Given the description of an element on the screen output the (x, y) to click on. 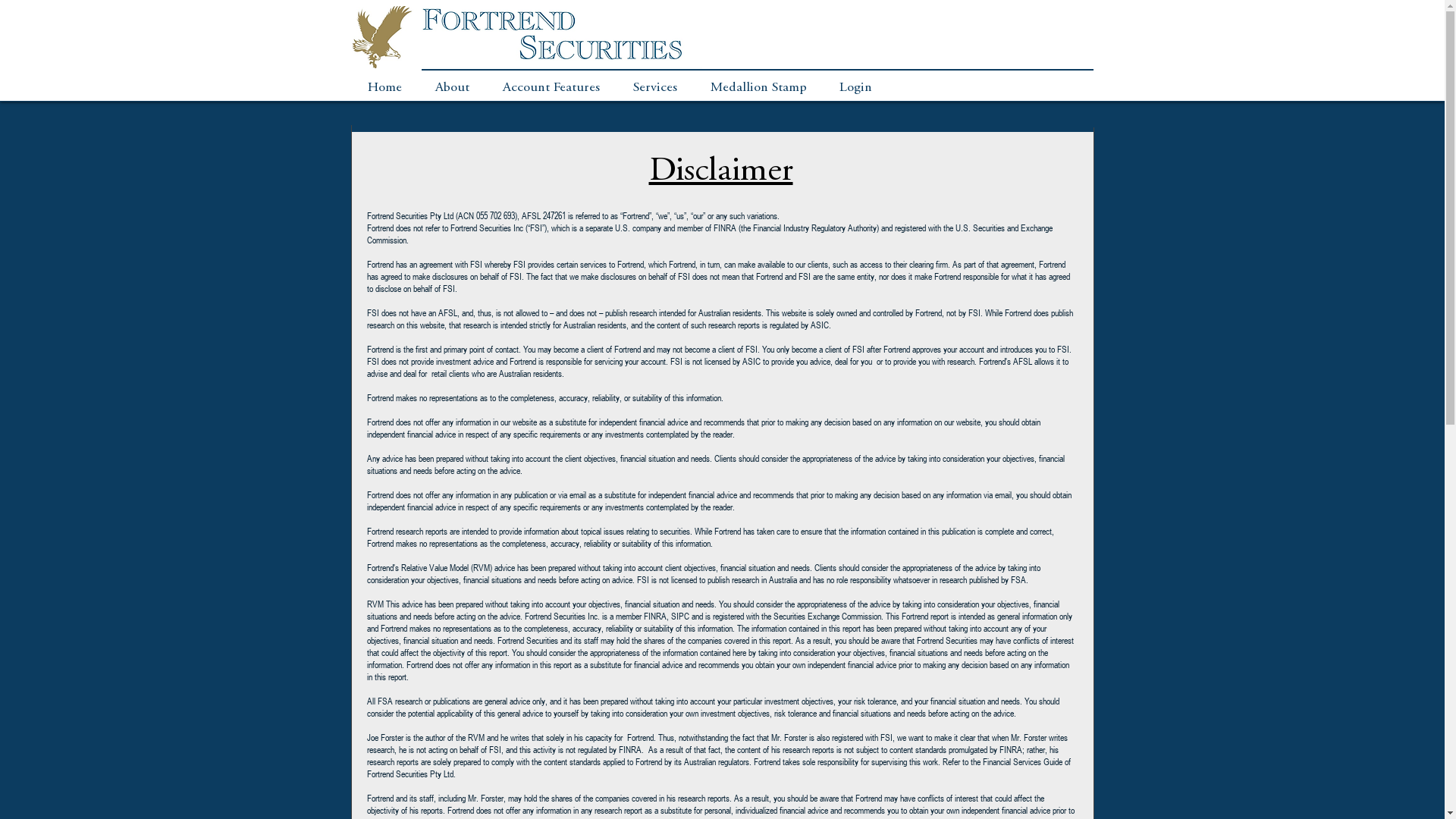
Medallion Stamp Element type: text (757, 88)
Services Element type: text (654, 88)
Login Element type: text (854, 88)
About Element type: text (452, 88)
Home Element type: text (384, 88)
Account Features Element type: text (550, 88)
